Given the description of an element on the screen output the (x, y) to click on. 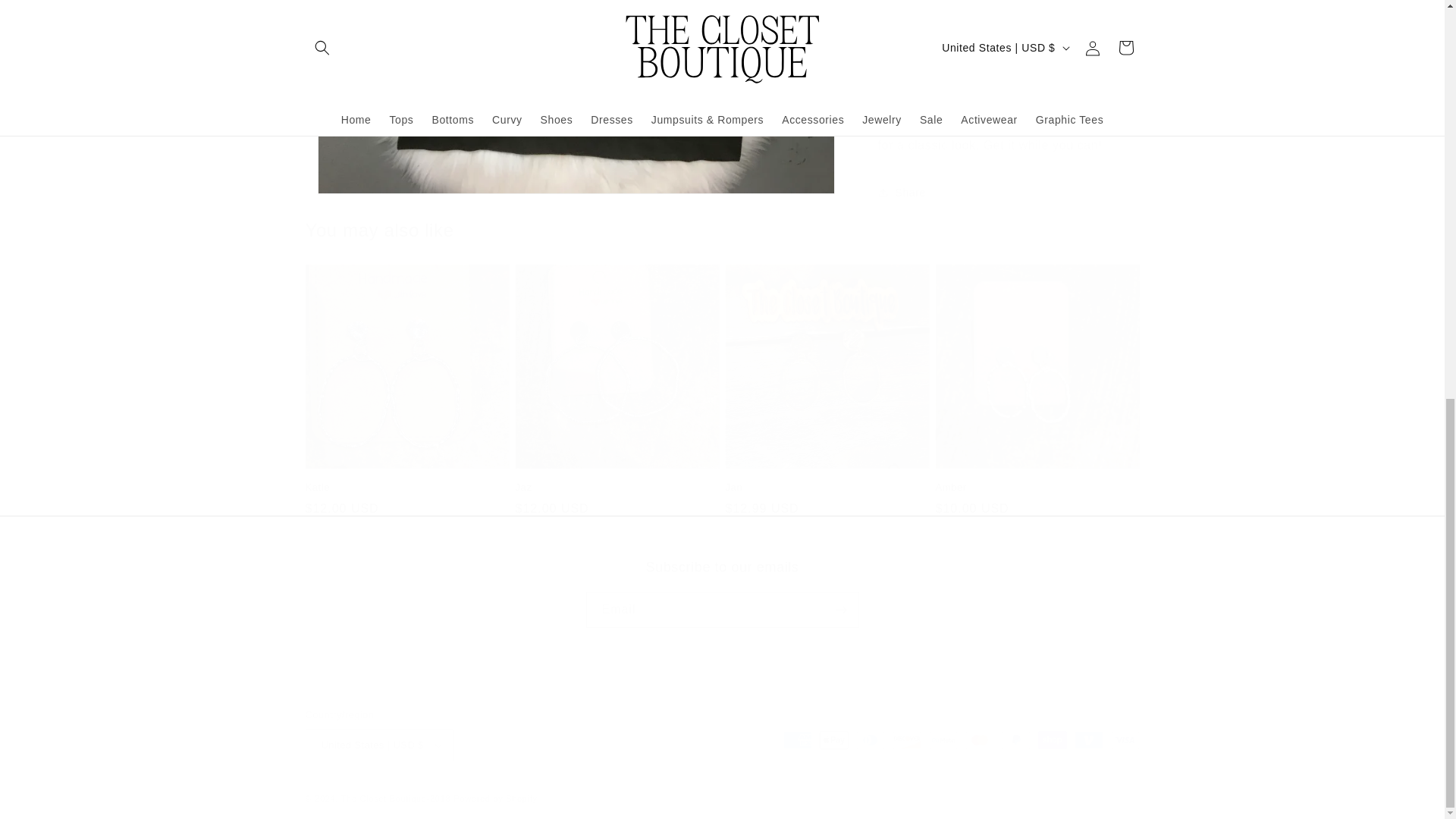
Open media 1 in modal (721, 592)
